Given the description of an element on the screen output the (x, y) to click on. 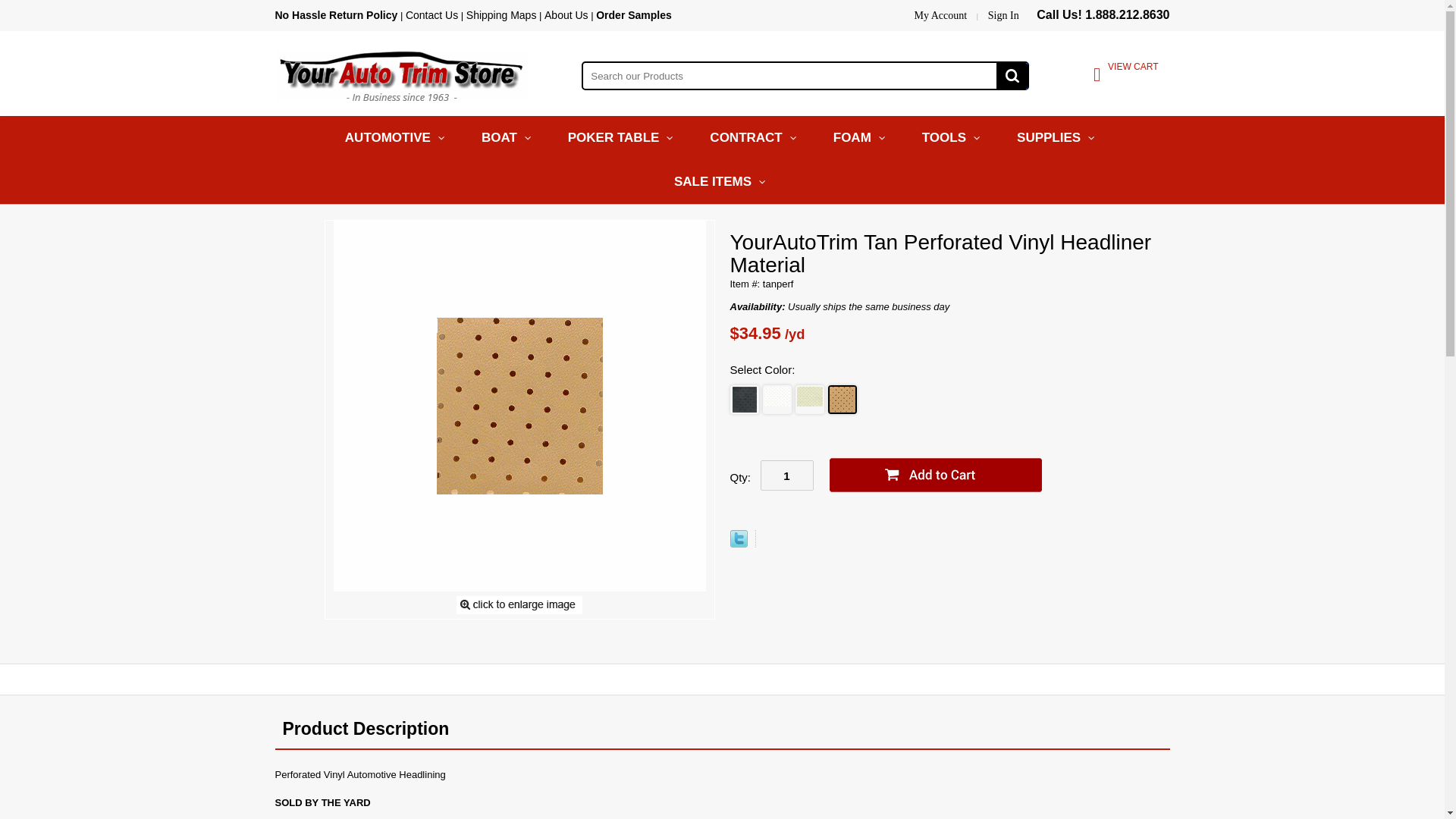
AUTOMOTIVE (397, 137)
Add to cart (935, 475)
Sign In (1002, 15)
VIEW CART (1096, 77)
Search (1011, 76)
No Hassle Return Policy (336, 15)
yourautotrim-store (401, 74)
1 (786, 475)
About Us (566, 15)
Search (1011, 76)
Tweet (737, 543)
Contact Us (432, 15)
Shipping Maps (501, 15)
Order Samples (633, 15)
My Account (939, 15)
